Given the description of an element on the screen output the (x, y) to click on. 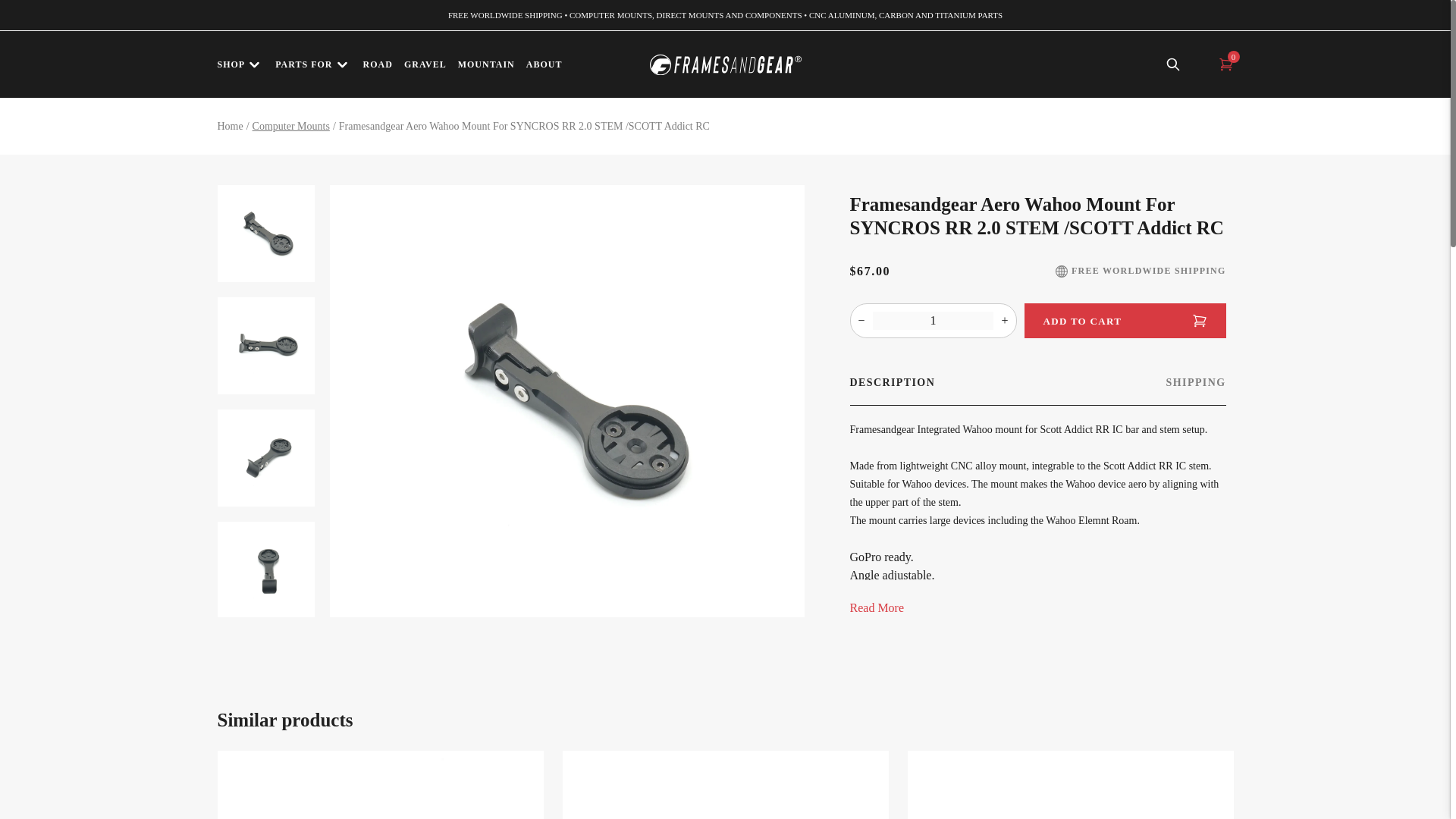
Home (229, 125)
1 (933, 321)
